Given the description of an element on the screen output the (x, y) to click on. 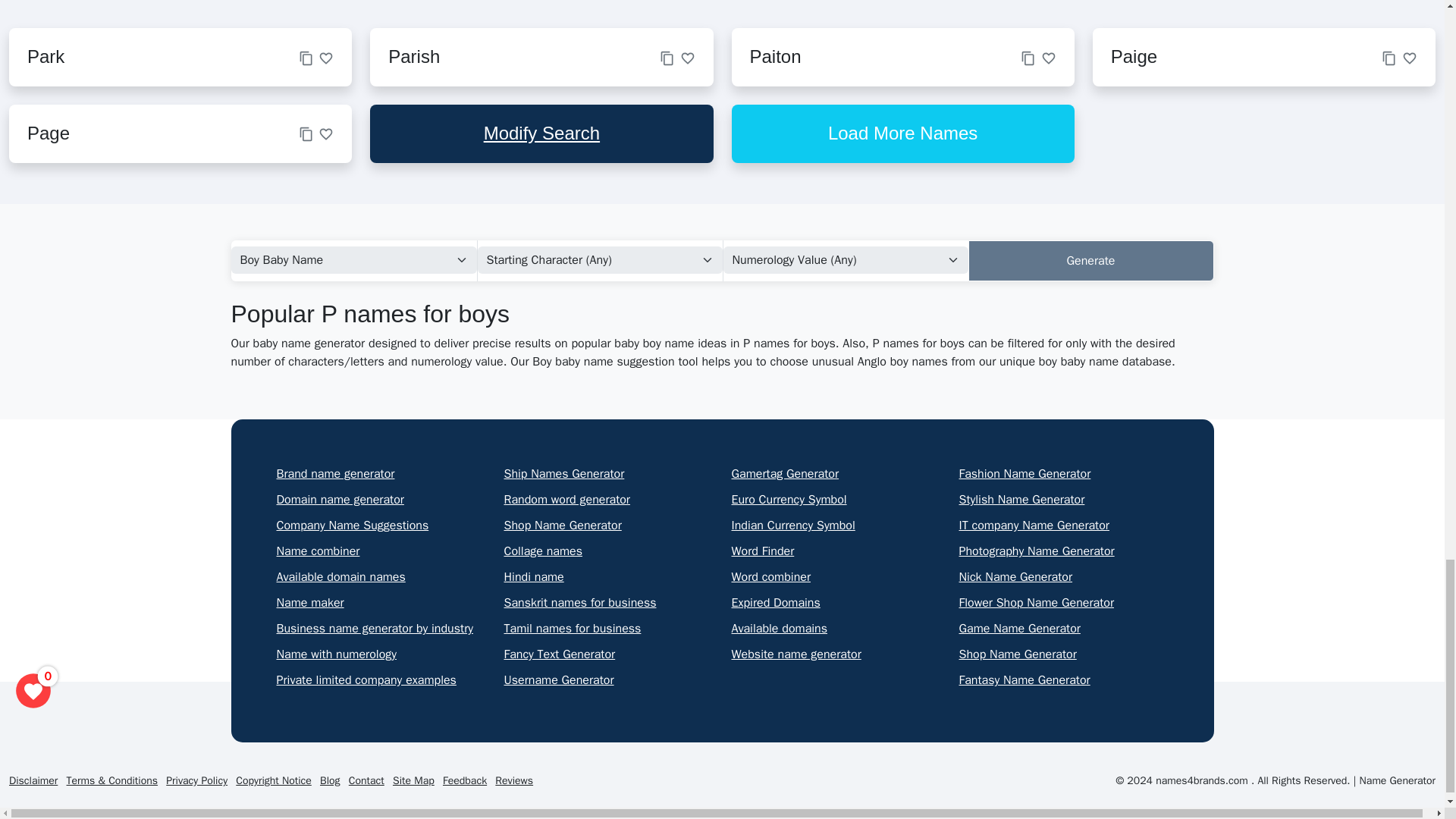
Advertisement (1179, 4)
Generate (1090, 260)
Advertisement (215, 4)
Advertisement (697, 4)
